Given the description of an element on the screen output the (x, y) to click on. 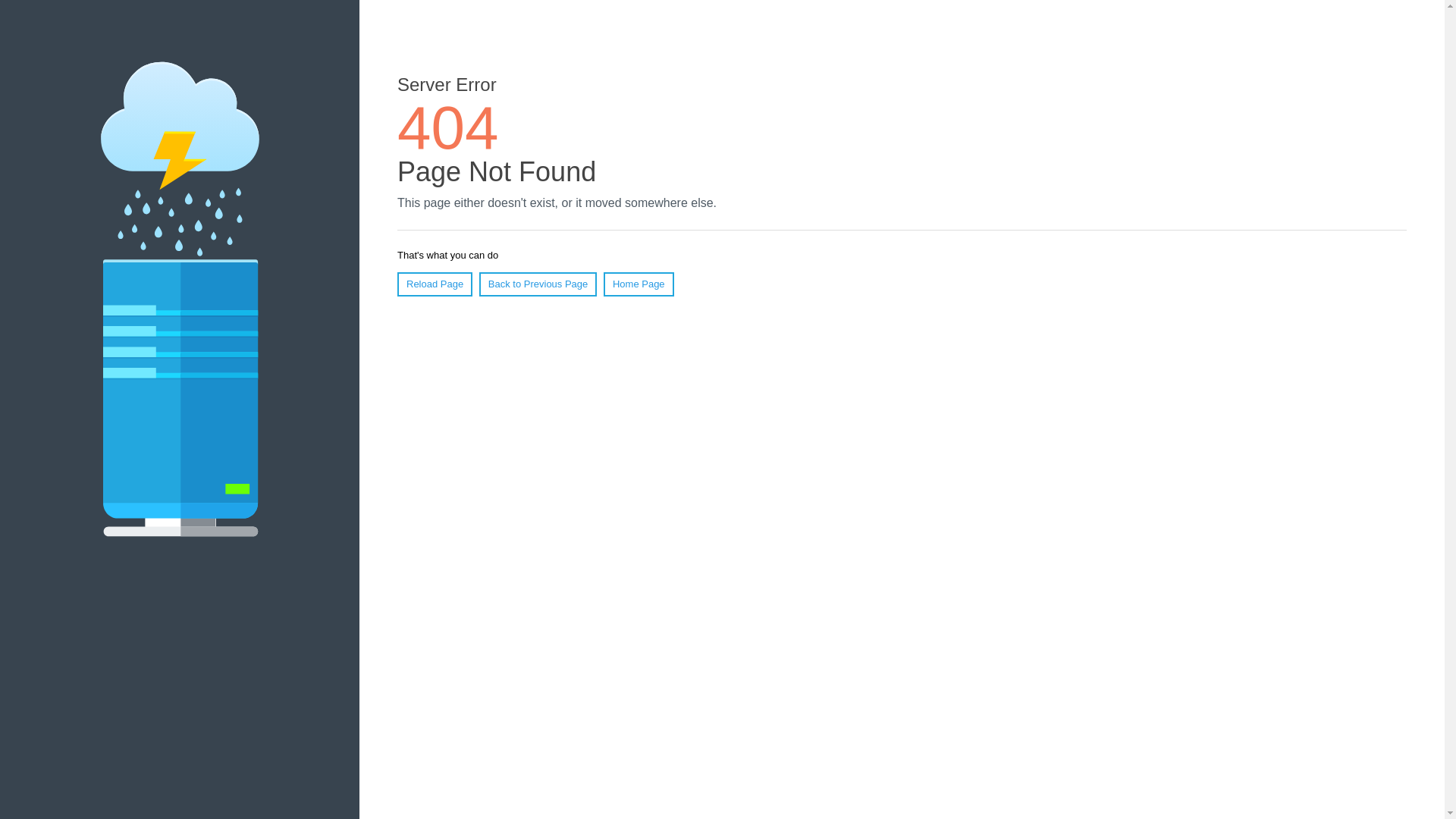
Reload Page Element type: text (434, 284)
Back to Previous Page Element type: text (538, 284)
Home Page Element type: text (638, 284)
